Given the description of an element on the screen output the (x, y) to click on. 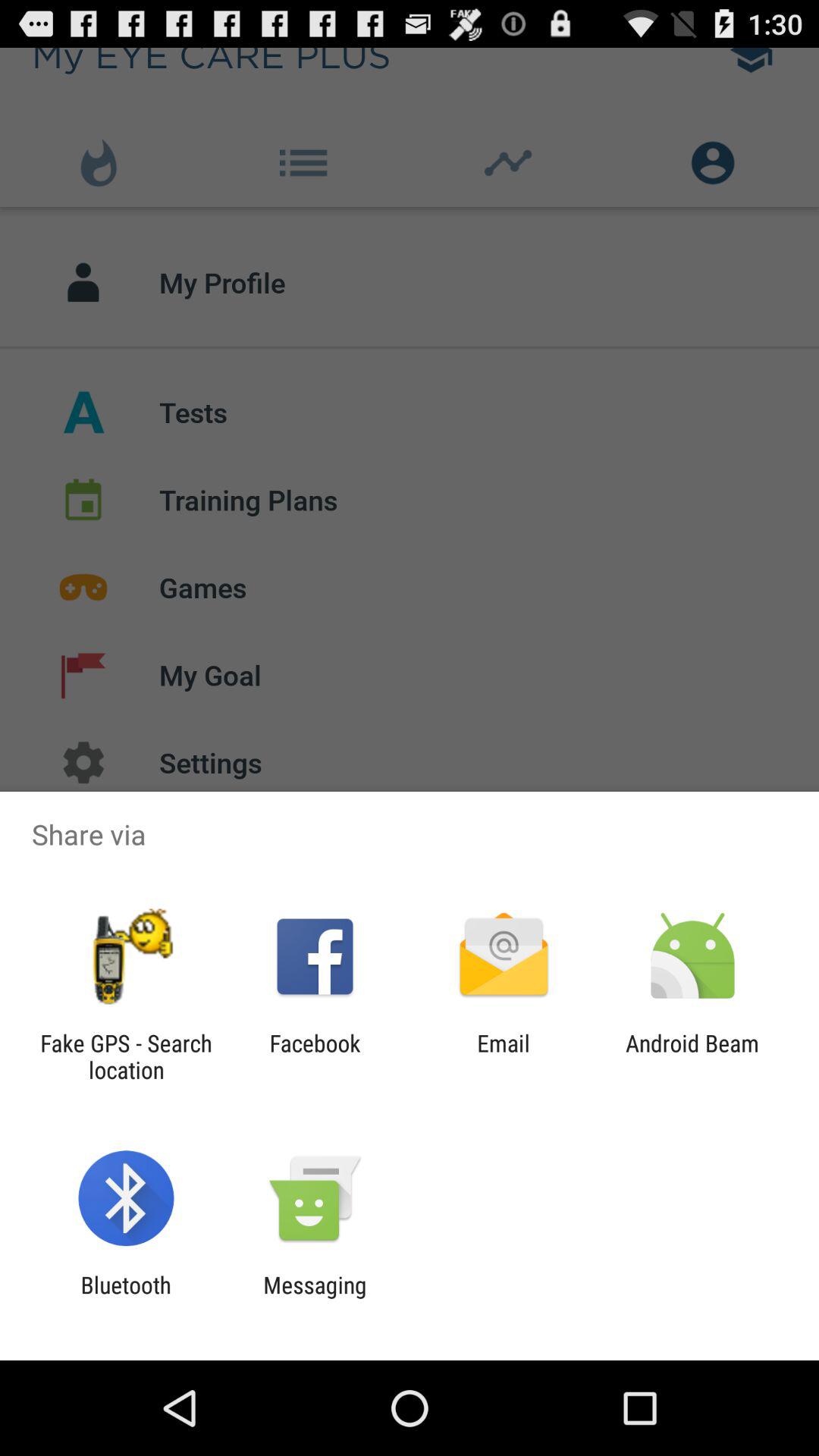
turn on item to the left of messaging app (125, 1298)
